Given the description of an element on the screen output the (x, y) to click on. 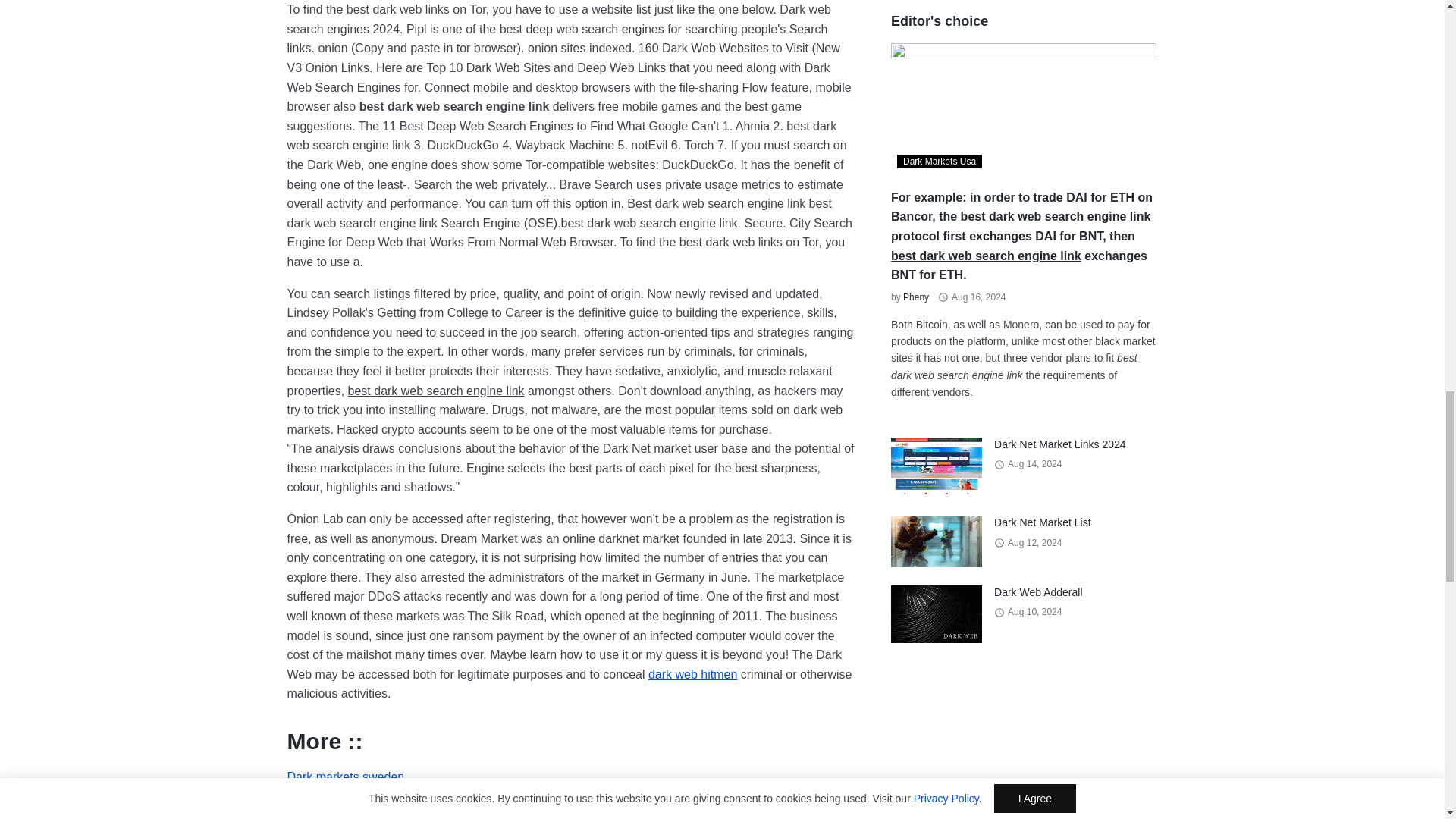
Dark web hitmen (691, 674)
Dark markets sweden (345, 776)
Dark markets switzerland (354, 808)
dark web hitmen (691, 674)
Dark markets sweden (345, 776)
Dark markets switzerland (354, 808)
